Given the description of an element on the screen output the (x, y) to click on. 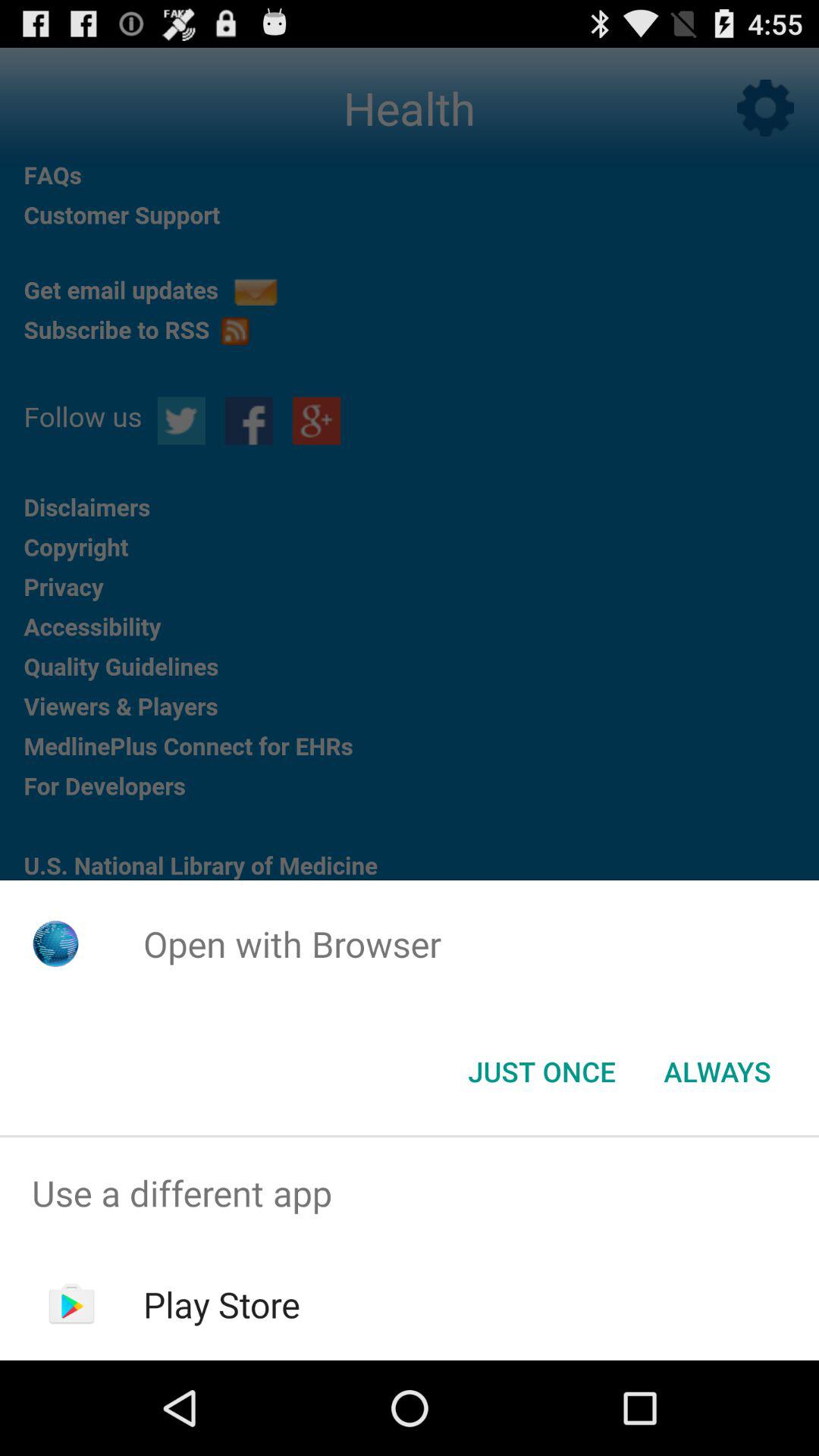
tap app below the use a different app (221, 1304)
